Given the description of an element on the screen output the (x, y) to click on. 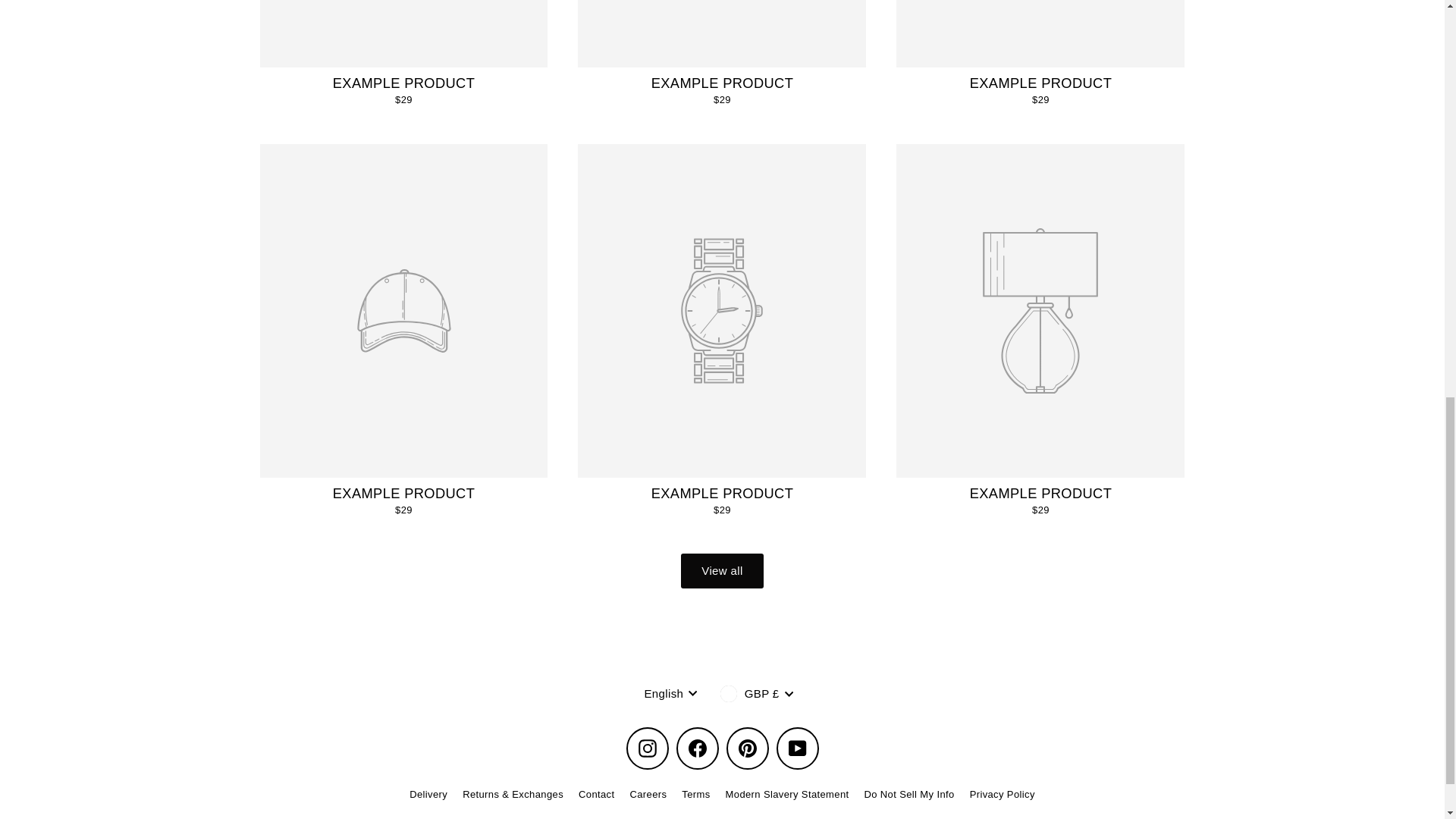
Rewritten  on YouTube (797, 748)
Rewritten  on Facebook (698, 748)
Rewritten  on Instagram (647, 748)
Rewritten  on Pinterest (747, 748)
